Given the description of an element on the screen output the (x, y) to click on. 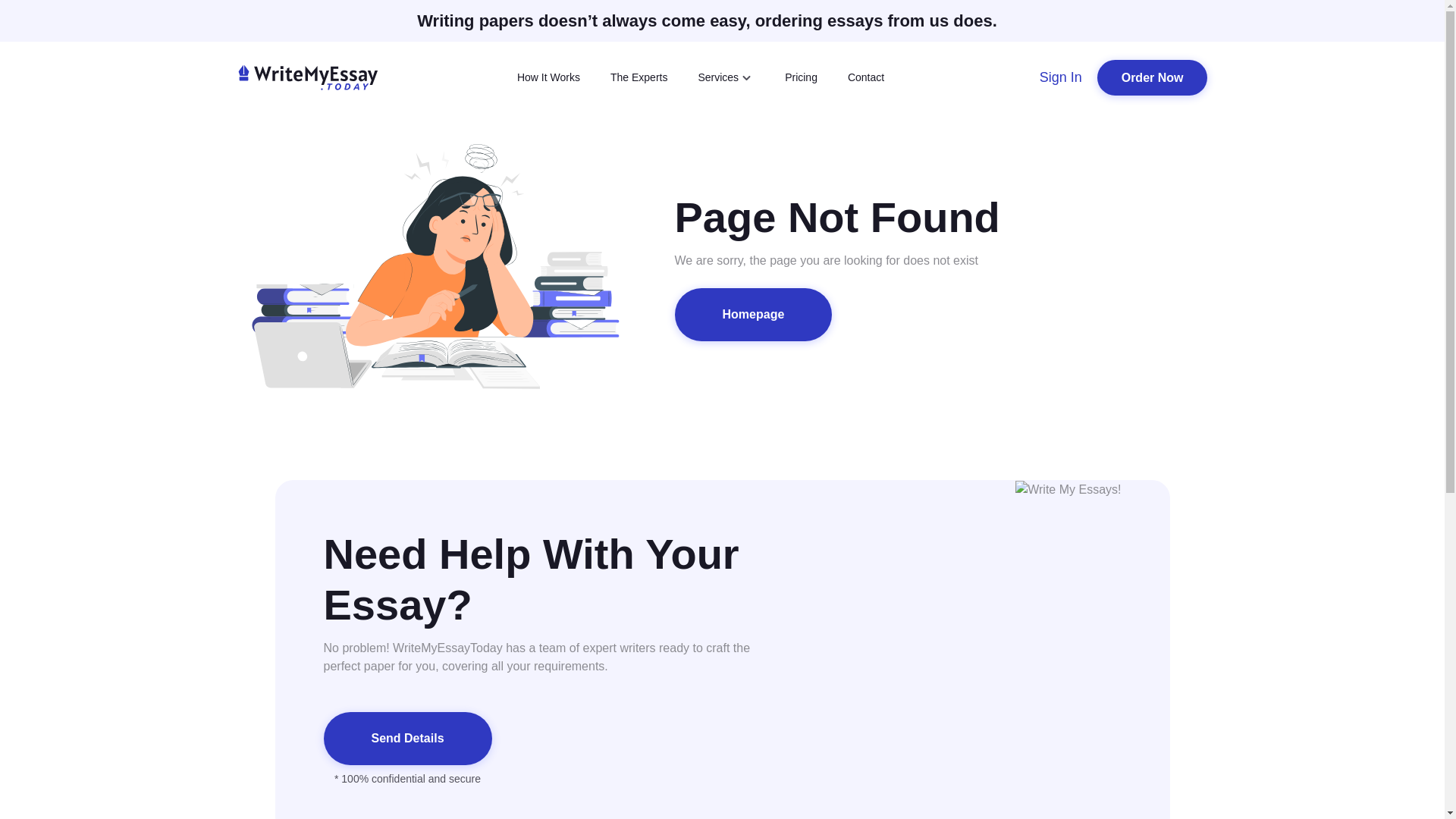
Sign In (1060, 77)
Order Now (1152, 77)
Homepage (753, 314)
Send Details (407, 737)
The Experts (638, 77)
Contact (865, 77)
How It Works (547, 77)
Pricing (800, 77)
